Given the description of an element on the screen output the (x, y) to click on. 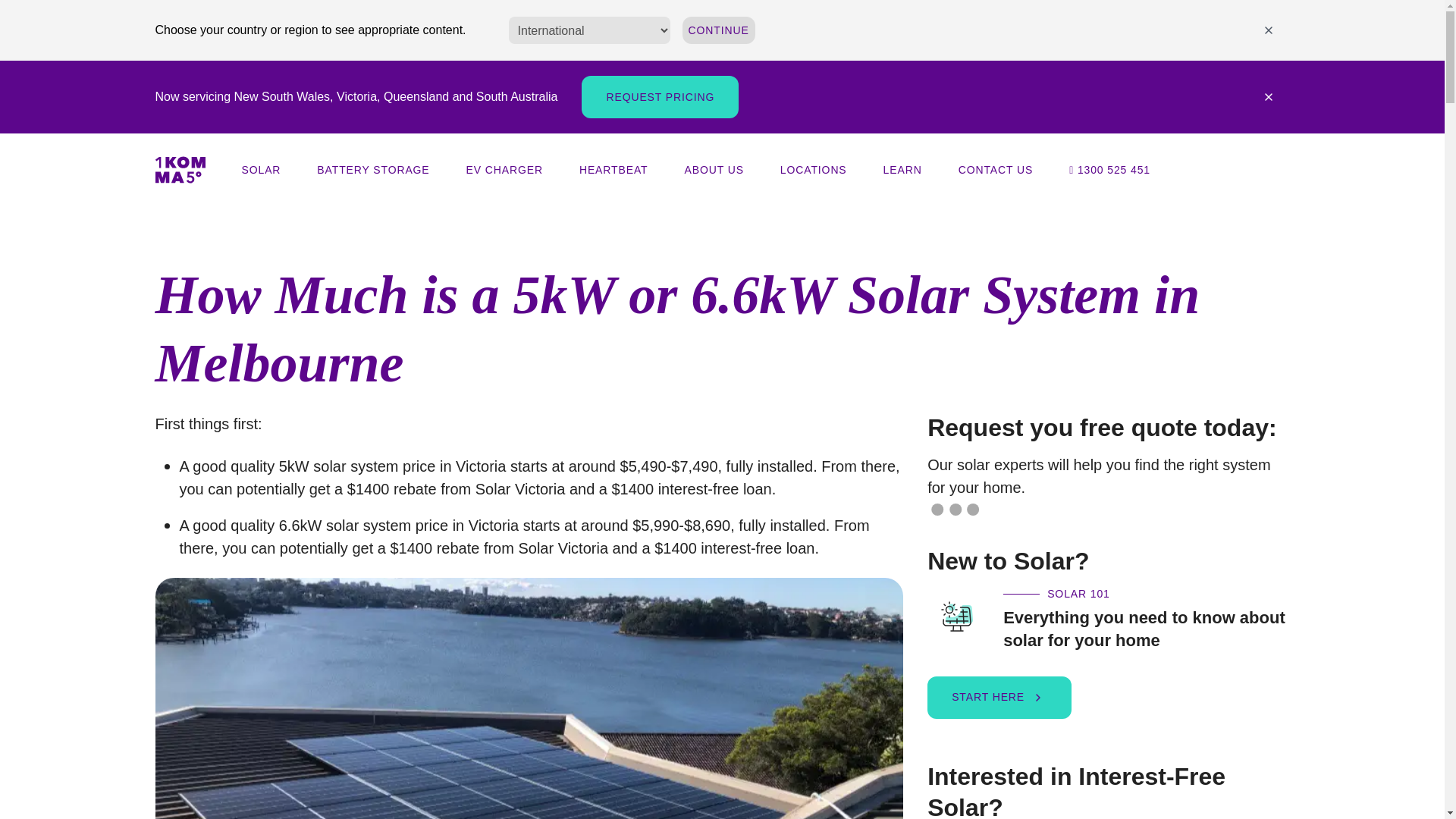
CONTINUE (718, 30)
REQUEST PRICING (659, 96)
